Given the description of an element on the screen output the (x, y) to click on. 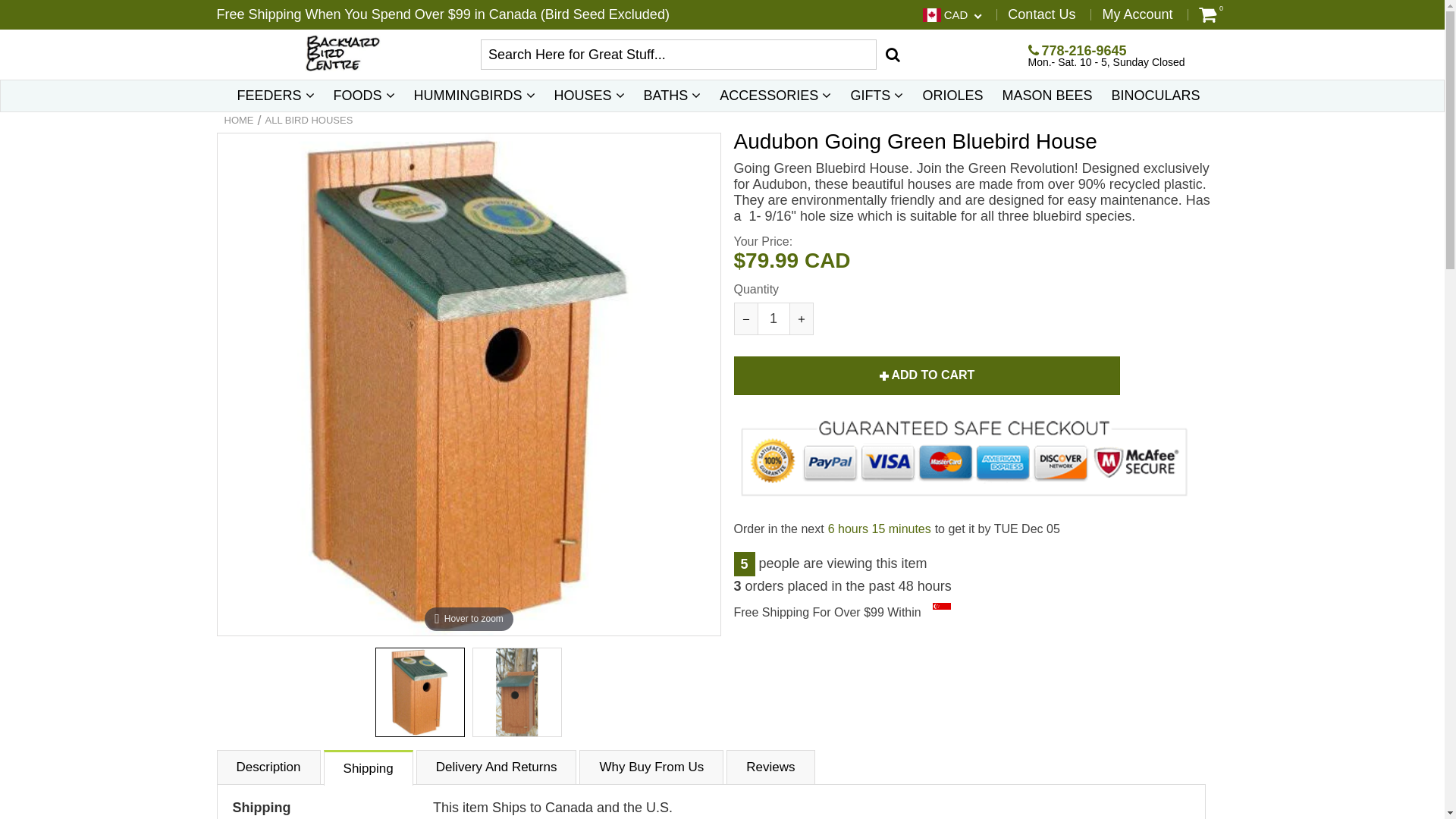
BINOCULARS Element type: text (1154, 95)
Delivery And Returns Element type: text (496, 766)
ORIOLES Element type: text (952, 95)
Hover to zoom Element type: text (468, 385)
FEEDERS Element type: text (274, 95)
My Account Element type: text (1136, 13)
Description Element type: text (268, 766)
Increase item quantity by one Element type: text (800, 318)
Shipping Element type: text (368, 767)
ADD TO CART Element type: text (927, 375)
HOUSES Element type: text (589, 95)
Reviews Element type: text (770, 766)
HUMMINGBIRDS Element type: text (474, 95)
0 Element type: text (1207, 14)
ALL BIRD HOUSES Element type: text (309, 120)
Why Buy From Us Element type: text (651, 766)
HOME Element type: text (239, 120)
BATHS Element type: text (672, 95)
MASON BEES Element type: text (1046, 95)
ACCESSORIES Element type: text (775, 95)
Reduce item quantity by one Element type: text (745, 318)
FOODS Element type: text (364, 95)
GIFTS Element type: text (876, 95)
Contact Us Element type: text (1041, 13)
778-216-9645 Element type: text (1077, 50)
